Given the description of an element on the screen output the (x, y) to click on. 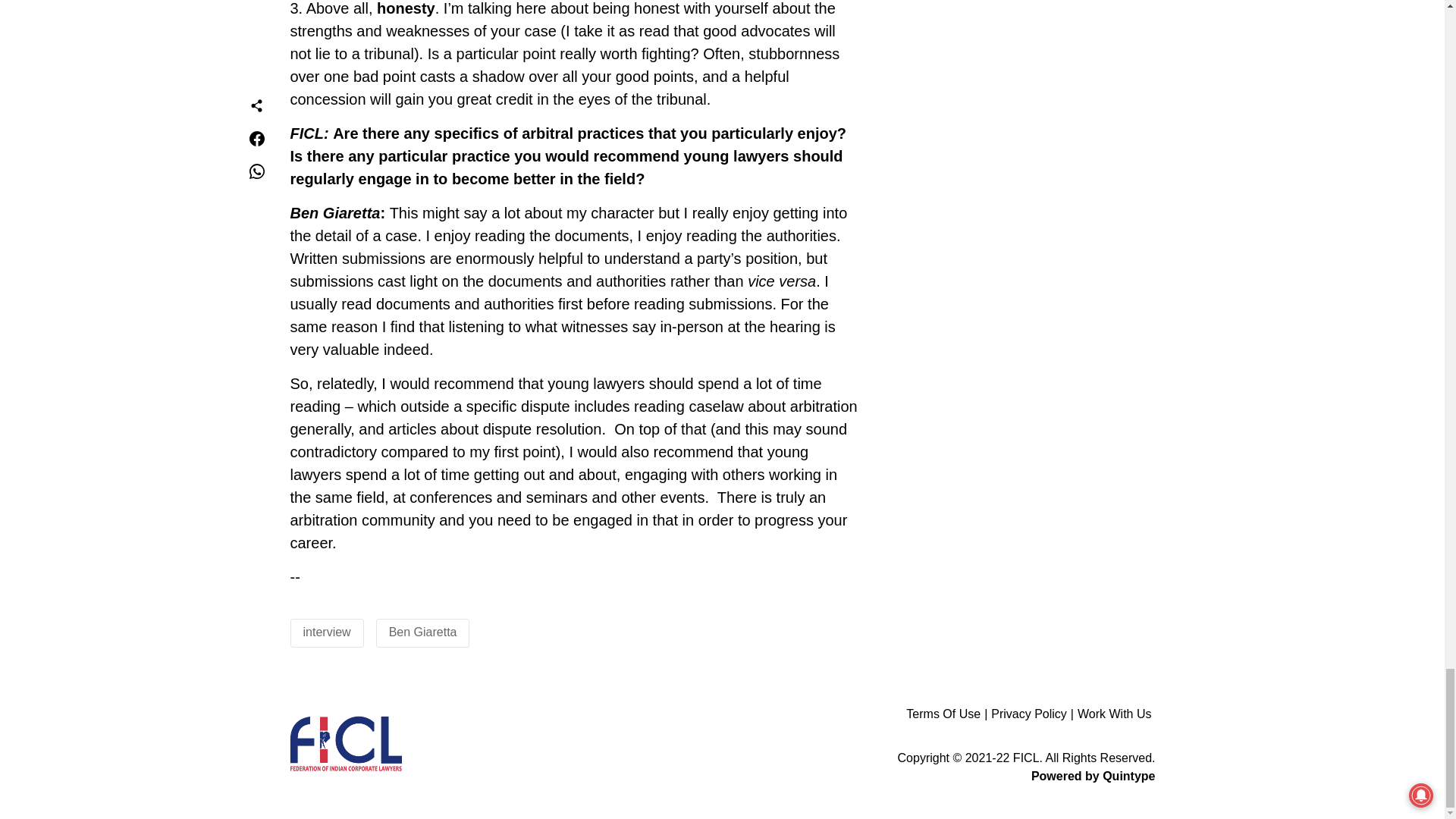
Terms Of Use (948, 713)
Ben Giaretta (422, 631)
interview (326, 631)
